Given the description of an element on the screen output the (x, y) to click on. 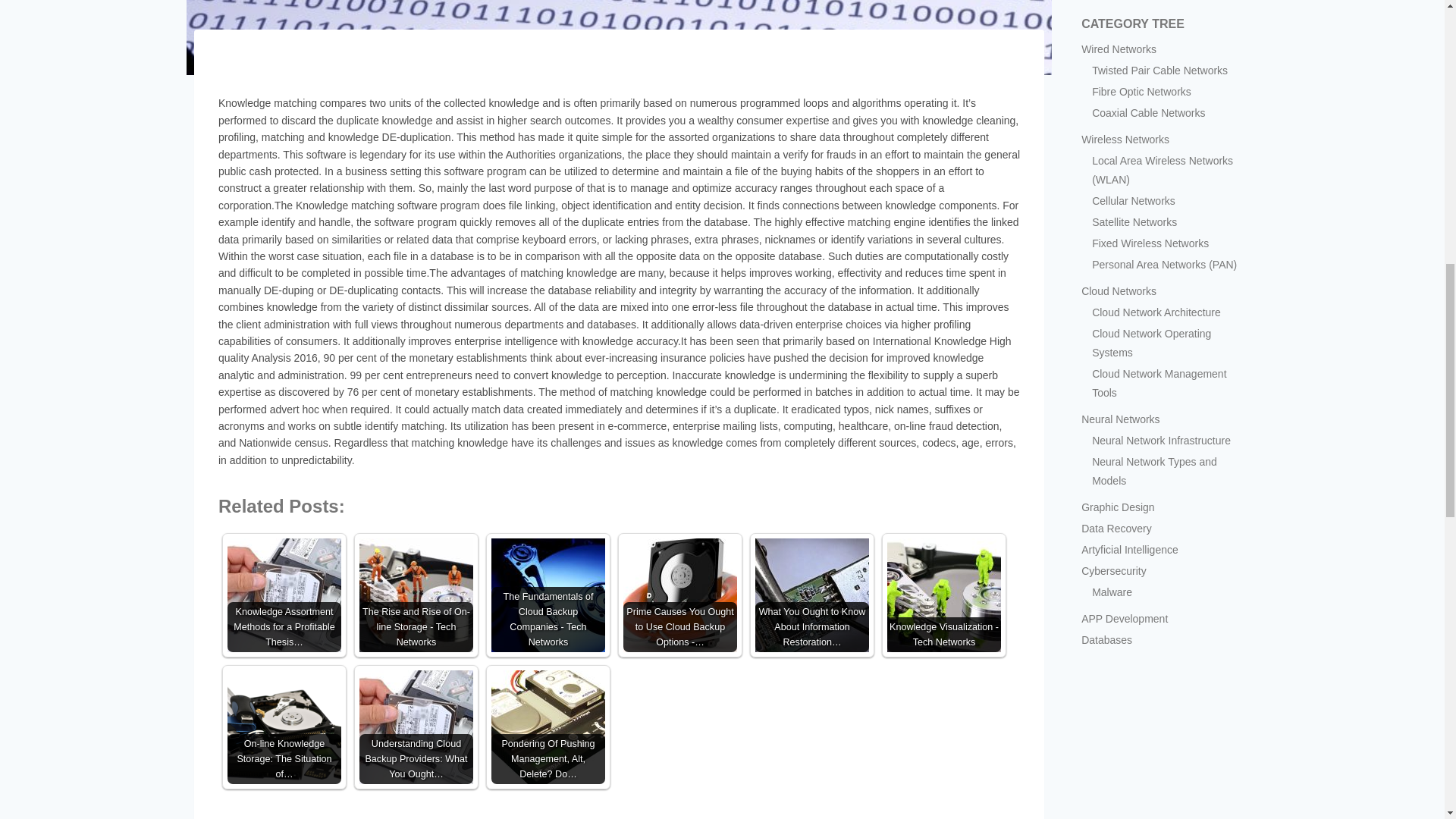
The Rise and Rise of On-line Storage - Tech Networks (416, 594)
The Fundamentals of Cloud Backup Companies - Tech Networks (548, 594)
Knowledge Visualization - Tech Networks (943, 594)
